Given the description of an element on the screen output the (x, y) to click on. 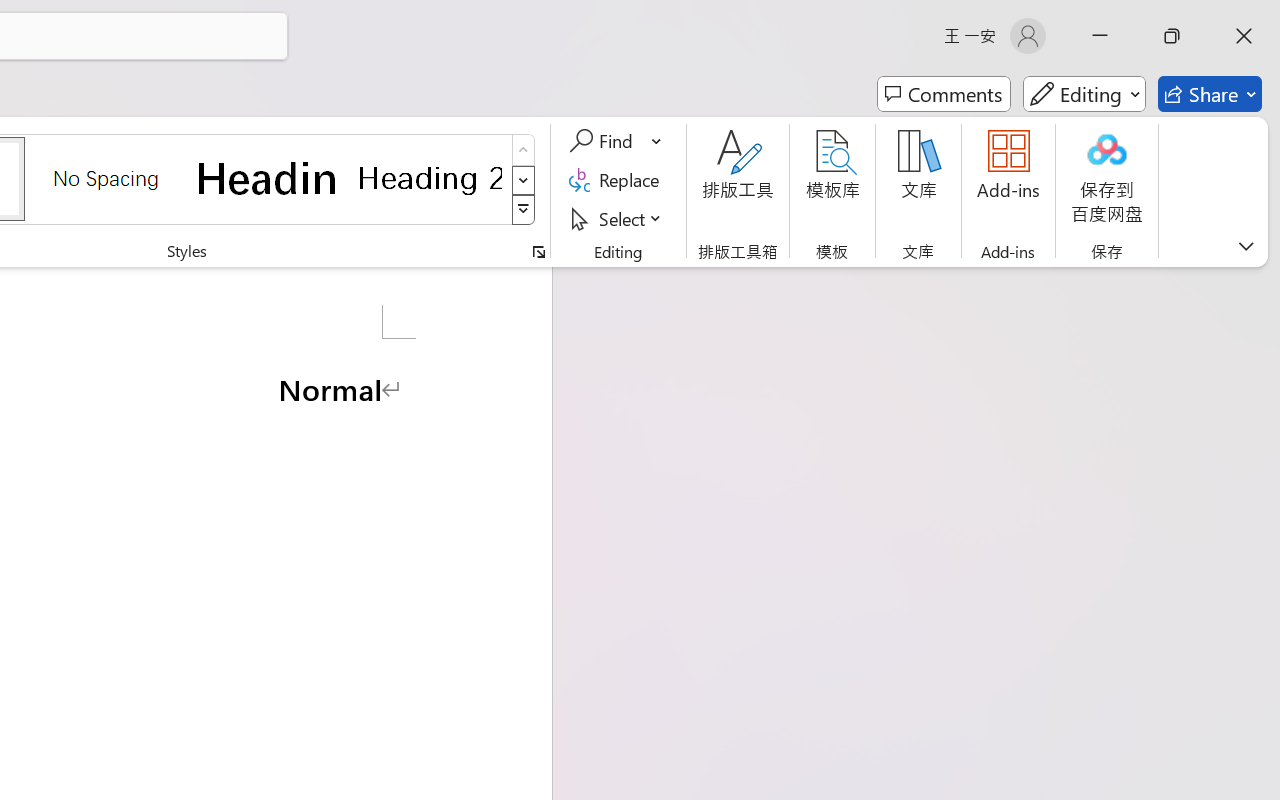
Replace... (617, 179)
Heading 2 (429, 178)
Heading 1 (267, 178)
